Given the description of an element on the screen output the (x, y) to click on. 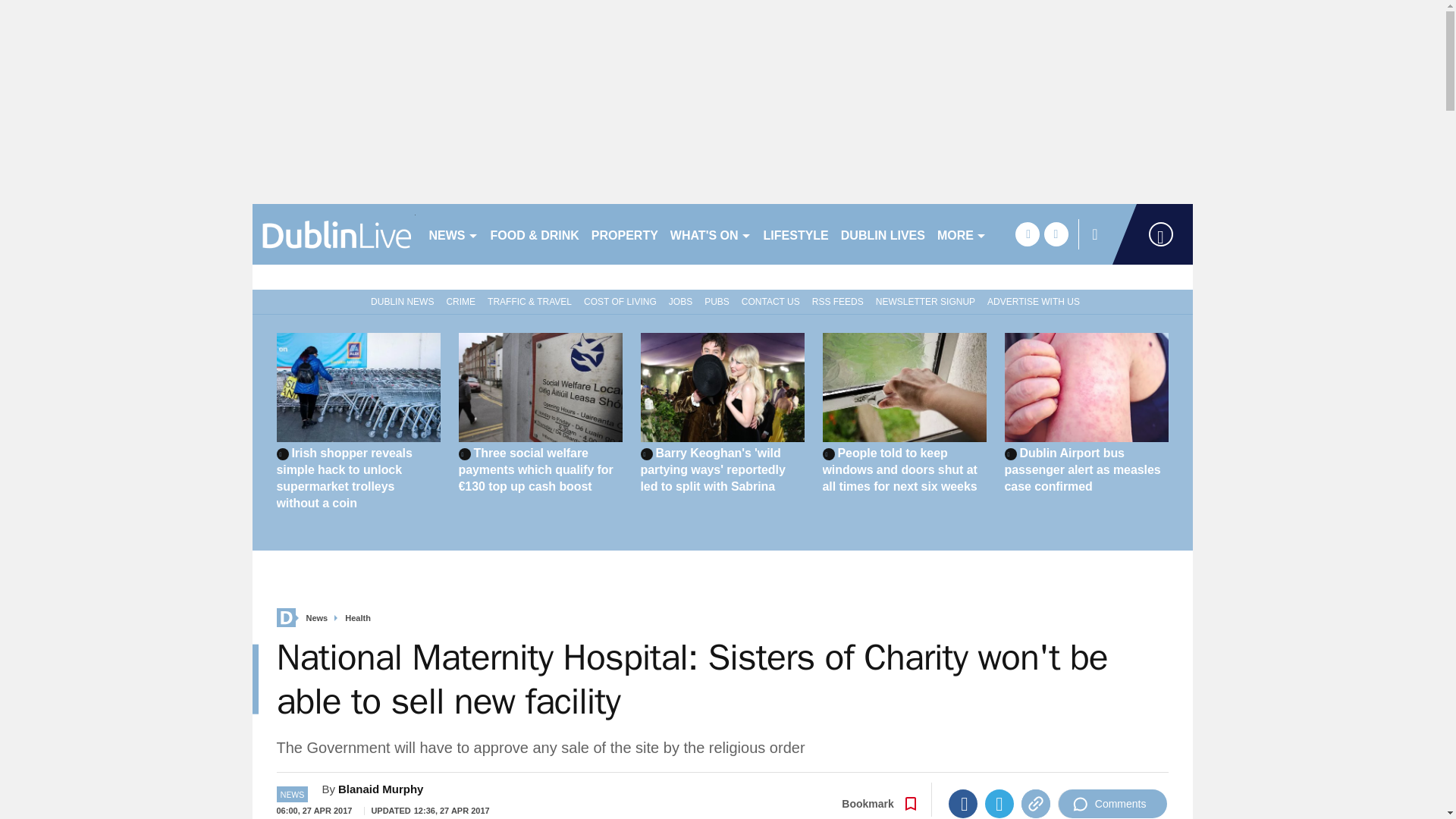
DUBLIN LIVES (882, 233)
dublinlive (332, 233)
PROPERTY (624, 233)
WHAT'S ON (710, 233)
facebook (1026, 233)
MORE (961, 233)
LIFESTYLE (795, 233)
twitter (1055, 233)
Twitter (999, 803)
Facebook (962, 803)
